Given the description of an element on the screen output the (x, y) to click on. 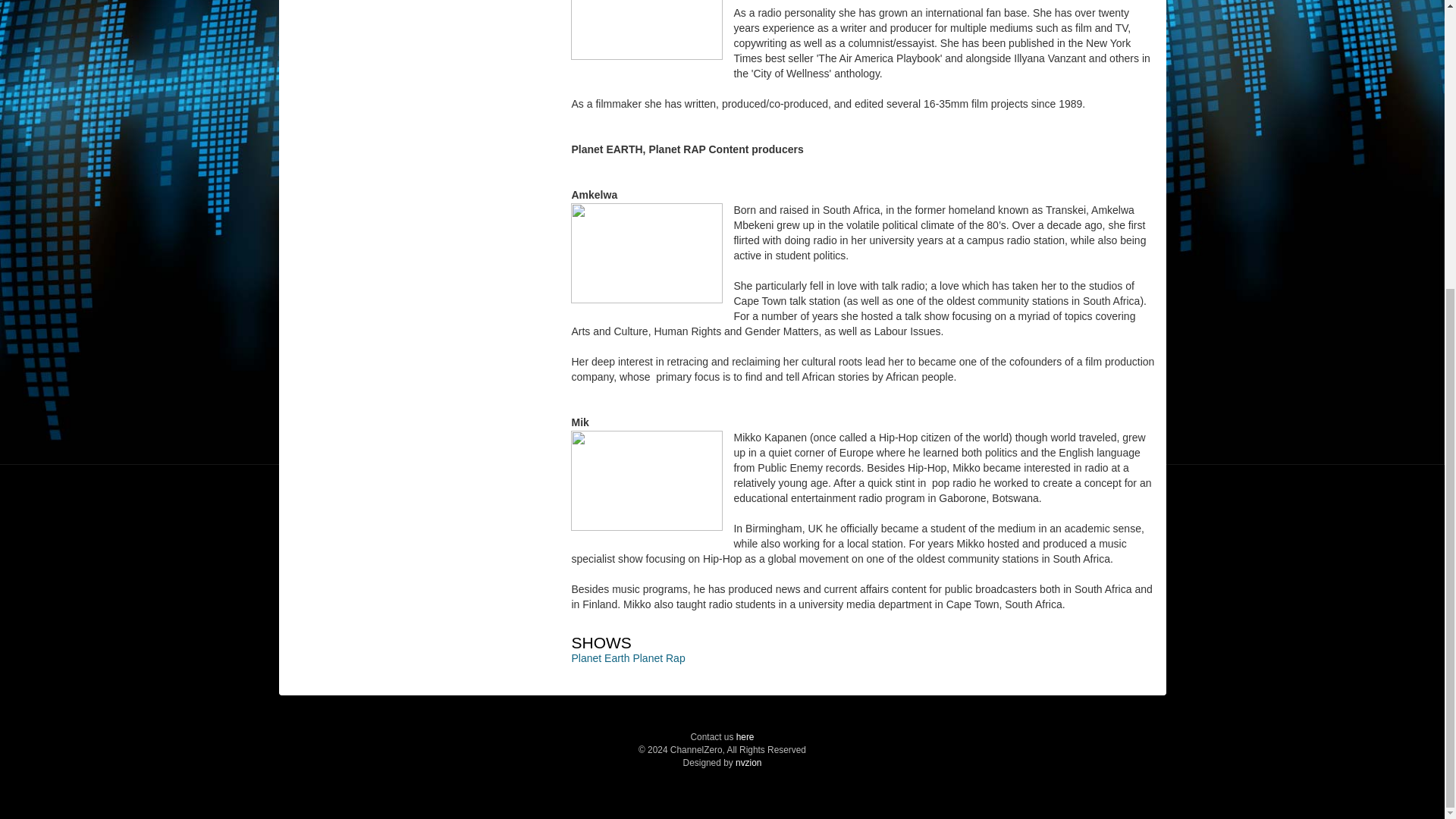
here (745, 737)
Planet Earth Planet Rap (627, 657)
nvzion (748, 762)
